Given the description of an element on the screen output the (x, y) to click on. 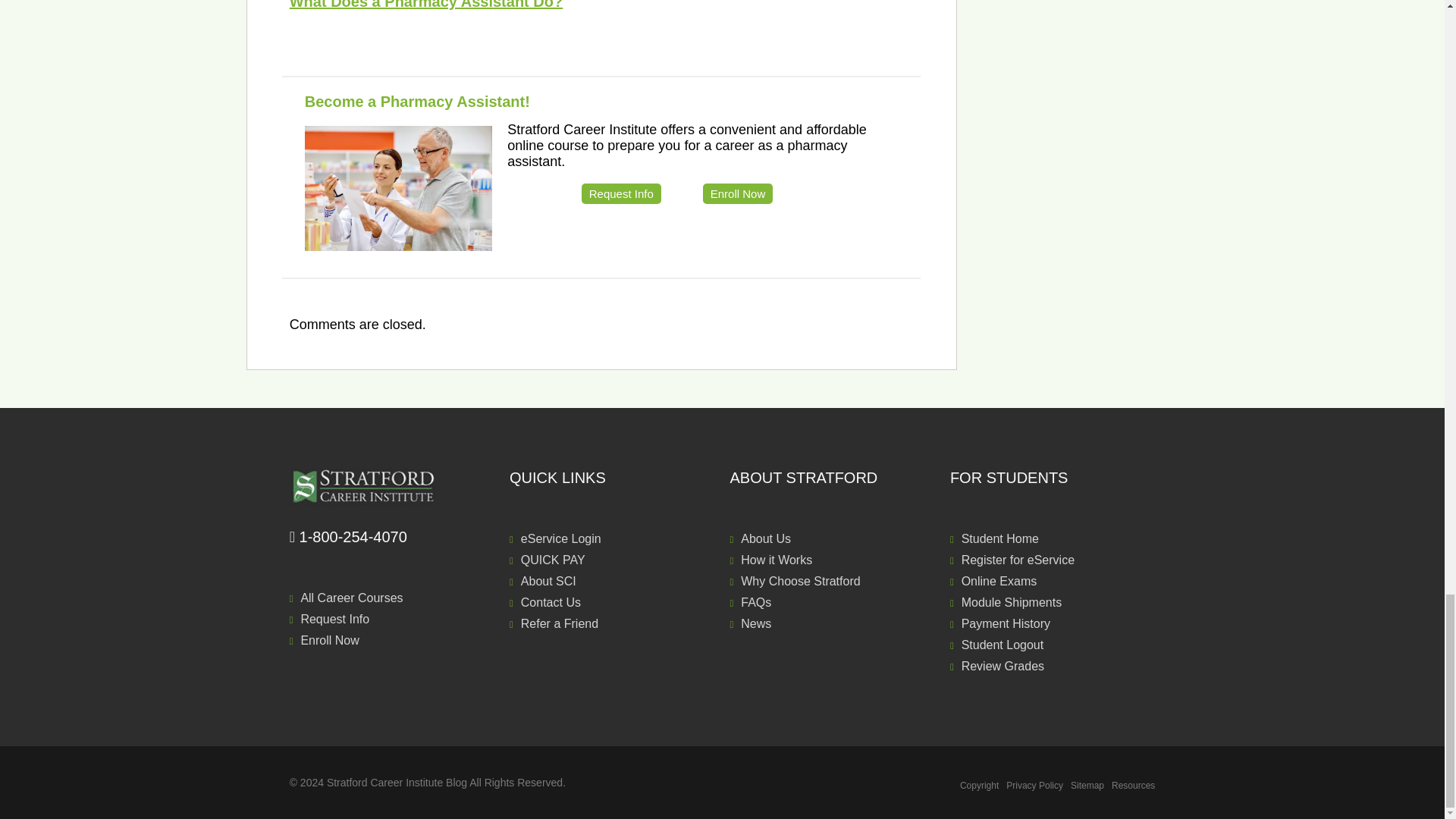
Stratford Career Institute Blog (392, 487)
What Does a Pharmacy Assistant Do? (425, 4)
Request Info (620, 193)
Call Stratford Career Institute Blog (392, 537)
1-800-254-4070 (392, 537)
Enroll Now (738, 193)
